Given the description of an element on the screen output the (x, y) to click on. 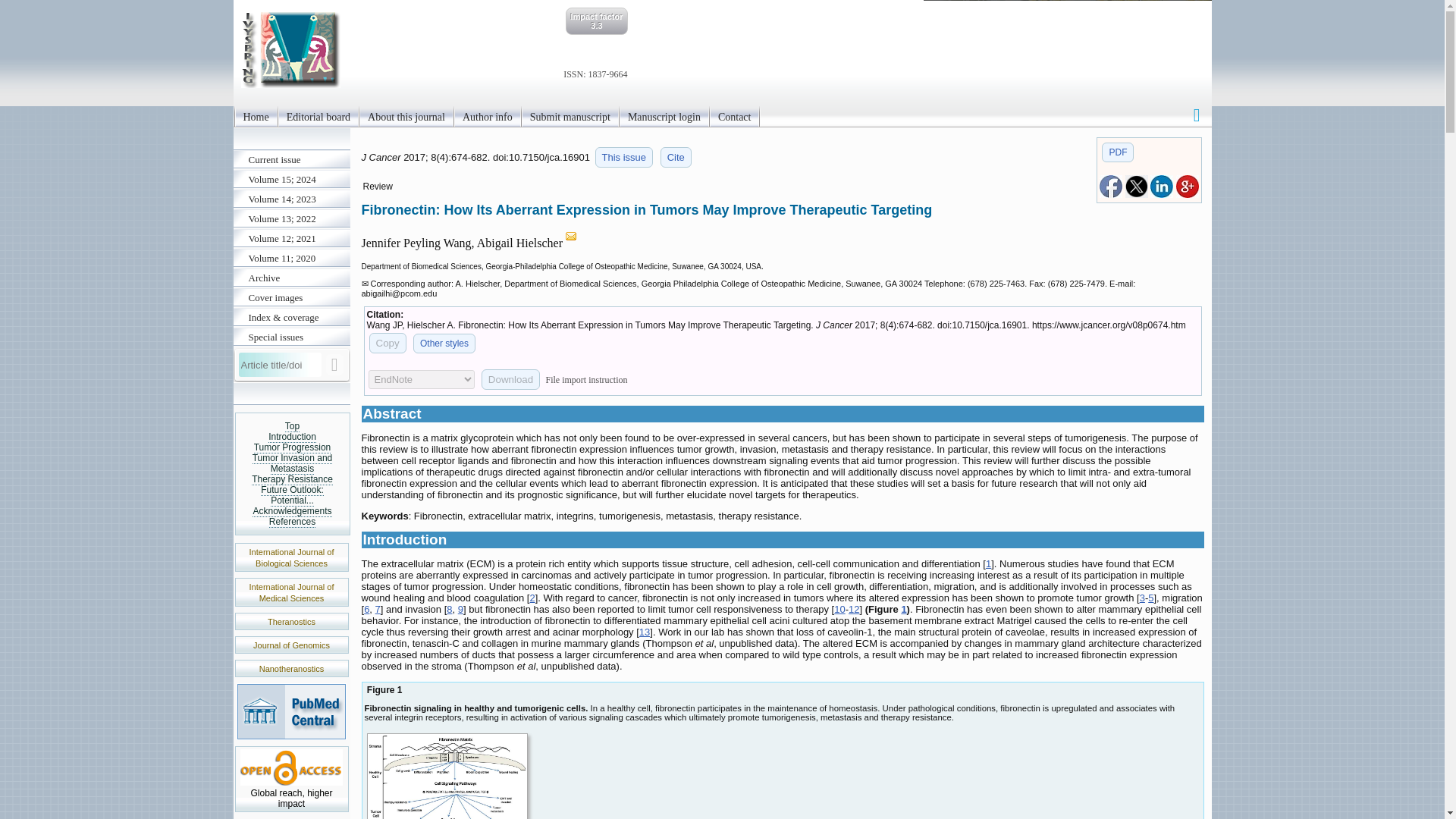
Cite (676, 157)
Share on facebook (1110, 194)
Issue 4 listing (624, 157)
Tumor Progression (292, 447)
Home (255, 117)
Cover images (291, 297)
Current issue (291, 159)
Acknowledgements (291, 511)
Nanotheranostics (291, 668)
Editorial board (318, 117)
Contact (734, 117)
Citation styles for this article (676, 157)
Download a file for citation software (510, 379)
Journal of Genomics (291, 645)
Share on tweeters (1136, 194)
